Given the description of an element on the screen output the (x, y) to click on. 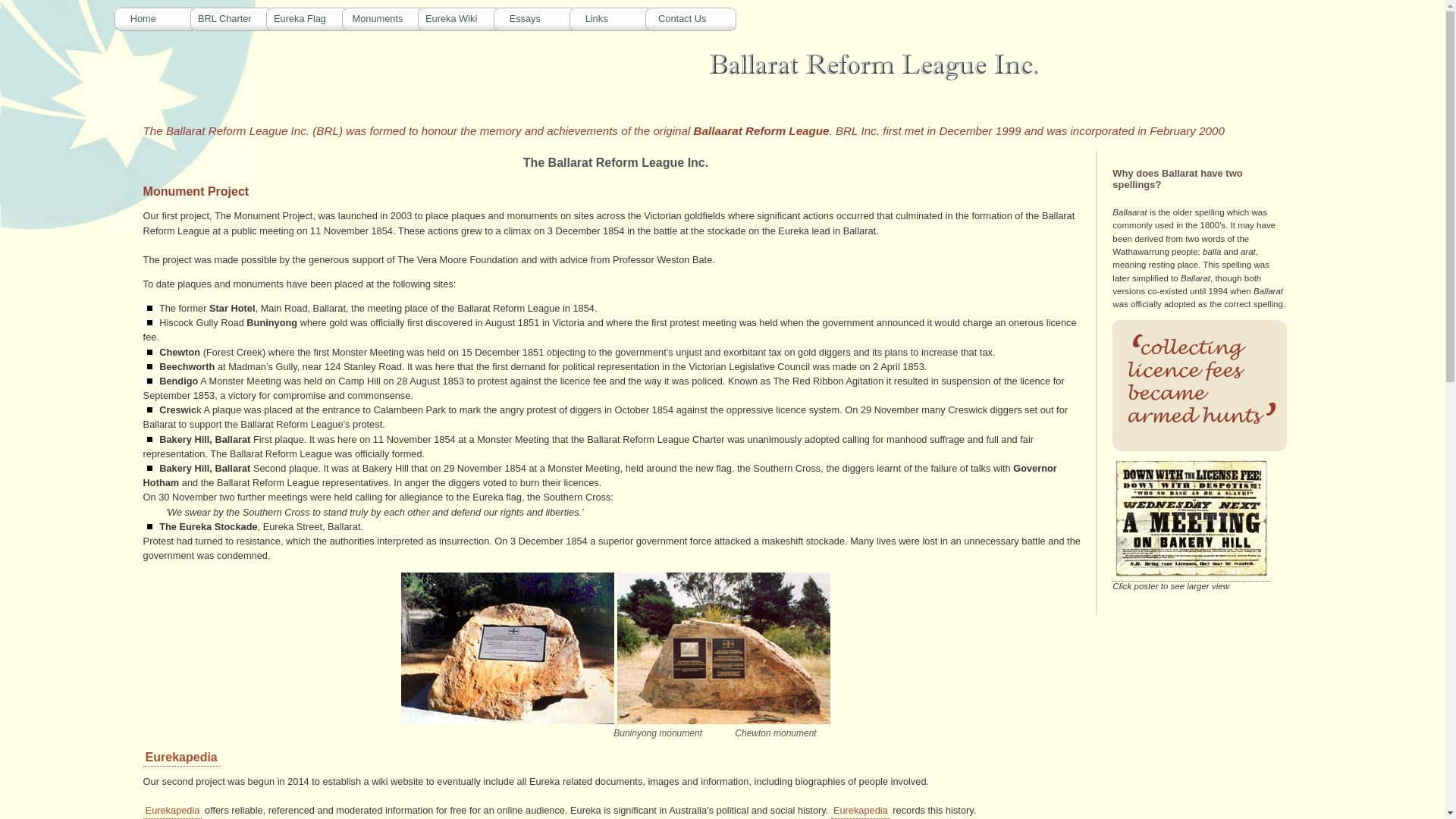
     Home Element type: text (160, 17)
    Contact Us Element type: text (691, 17)
  Eureka Wiki Element type: text (463, 17)
     Links Element type: text (615, 17)
  Eureka Flag Element type: text (311, 17)
   Monuments Element type: text (387, 17)
  BRL Charter Element type: text (236, 17)
Eurekapedia Element type: text (181, 757)
     Essays Element type: text (539, 17)
